Given the description of an element on the screen output the (x, y) to click on. 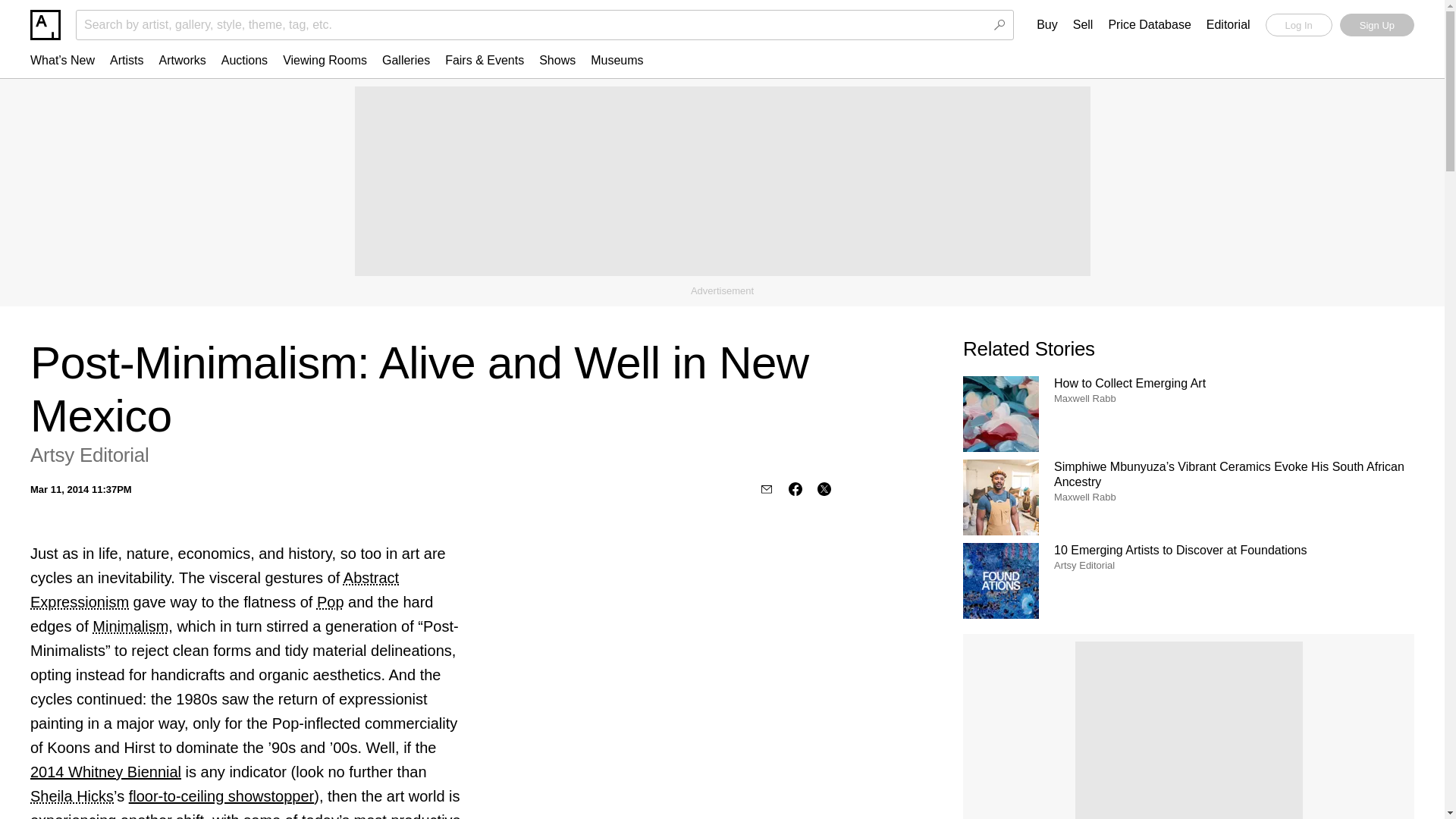
Editorial (1227, 25)
Museums (616, 59)
Sell (1082, 25)
Price Database (1149, 25)
Log In (1298, 24)
Auctions (244, 59)
Post to Facebook (795, 489)
Abstract Expressionism (214, 589)
Viewing Rooms (324, 59)
Shows (557, 59)
Artists (126, 59)
Minimalism (130, 626)
Artworks (182, 59)
3rd party ad content (1189, 730)
